Given the description of an element on the screen output the (x, y) to click on. 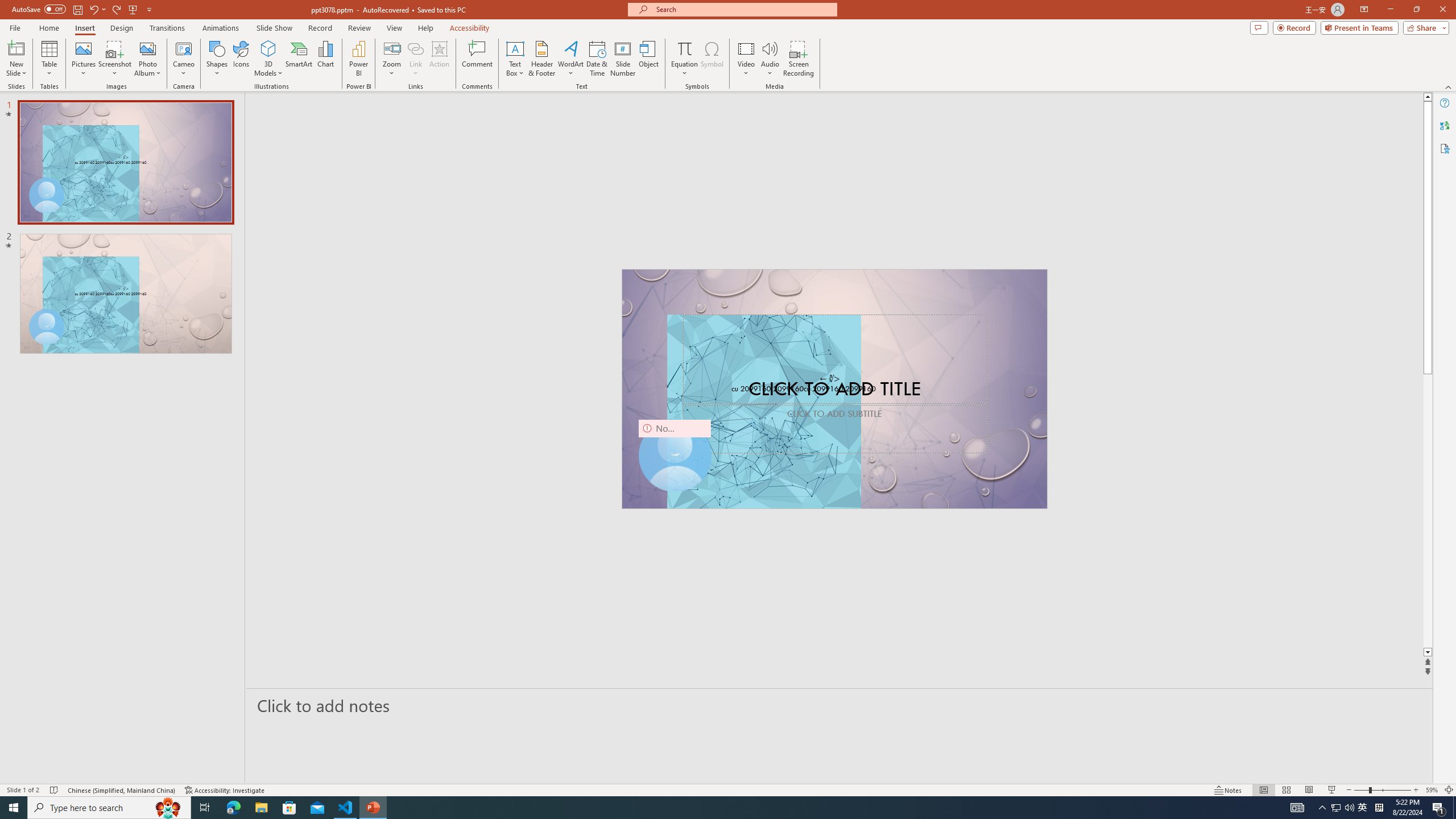
Screenshot (114, 58)
Screen Recording... (798, 58)
Icons (240, 58)
Title TextBox (834, 358)
Equation (683, 48)
Zoom 59% (1431, 790)
WordArt (570, 58)
